Given the description of an element on the screen output the (x, y) to click on. 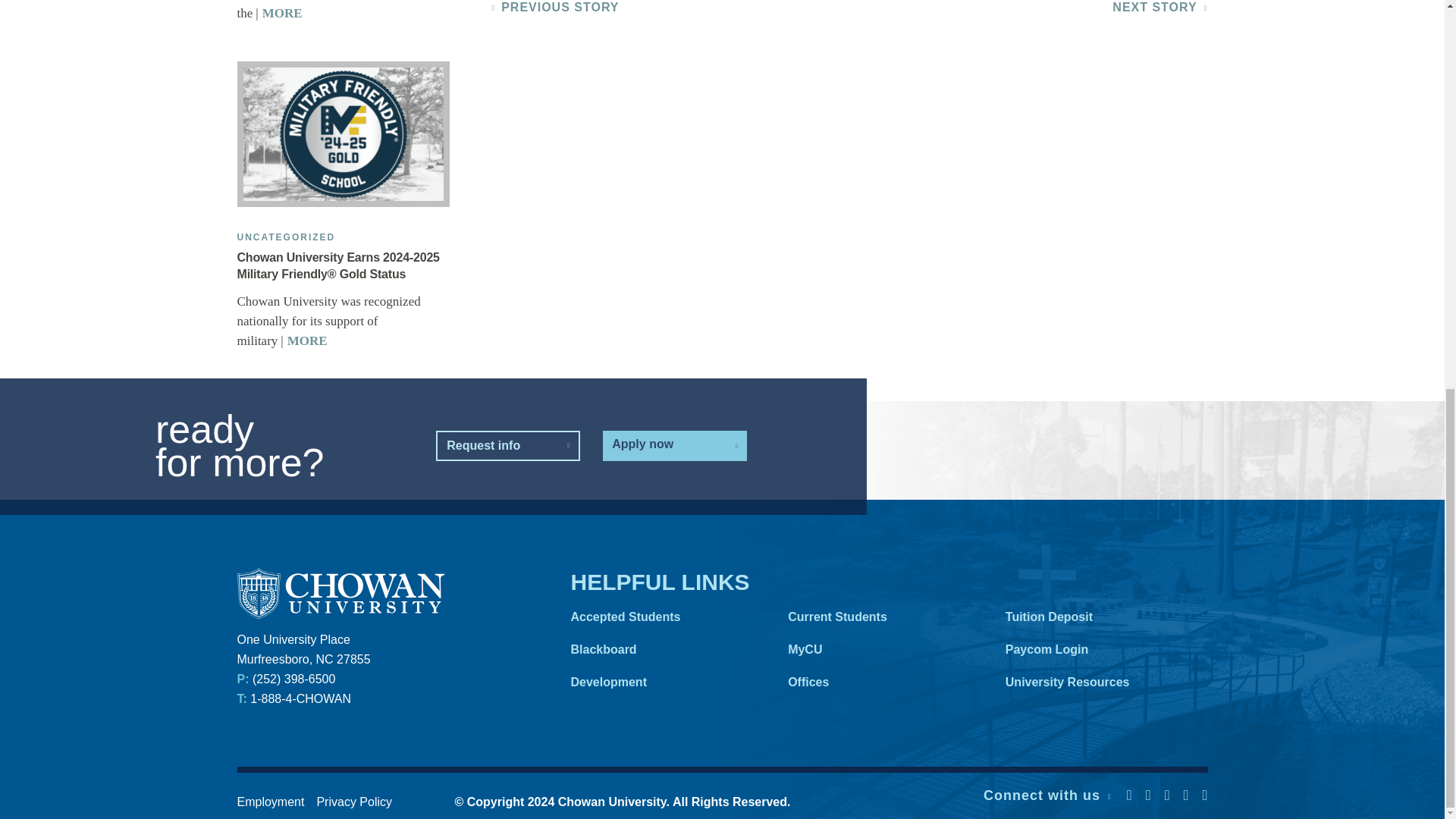
UNCATEGORIZED (284, 236)
Apply now (674, 445)
Offices (881, 681)
Paycom Login (1099, 649)
University Resources (1099, 681)
PREVIOUS STORY (559, 6)
Development (663, 681)
Current Students (881, 616)
Current Students (881, 616)
NEXT STORY (1154, 6)
University Resources (1099, 681)
MORE (302, 340)
Accepted Students (663, 616)
Blackboard (663, 649)
MyCU (881, 649)
